Given the description of an element on the screen output the (x, y) to click on. 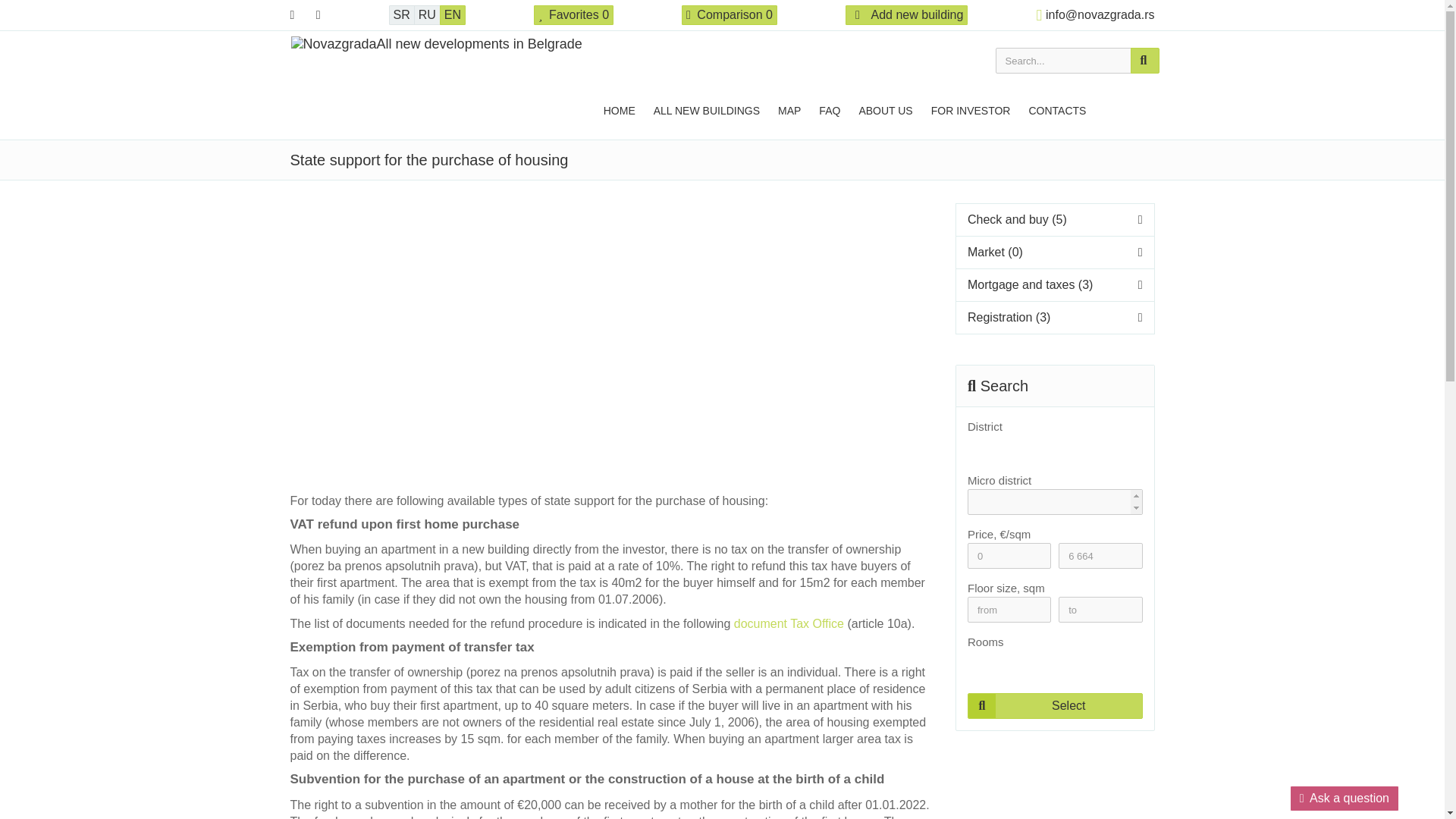
Favorites 0 (573, 14)
Comparison 0 (729, 14)
document Tax Office (788, 623)
EN (452, 14)
Add new building (906, 14)
ABOUT US (884, 109)
ALL NEW BUILDINGS (706, 109)
RU (427, 14)
search (1143, 60)
FOR INVESTOR (970, 109)
